Given the description of an element on the screen output the (x, y) to click on. 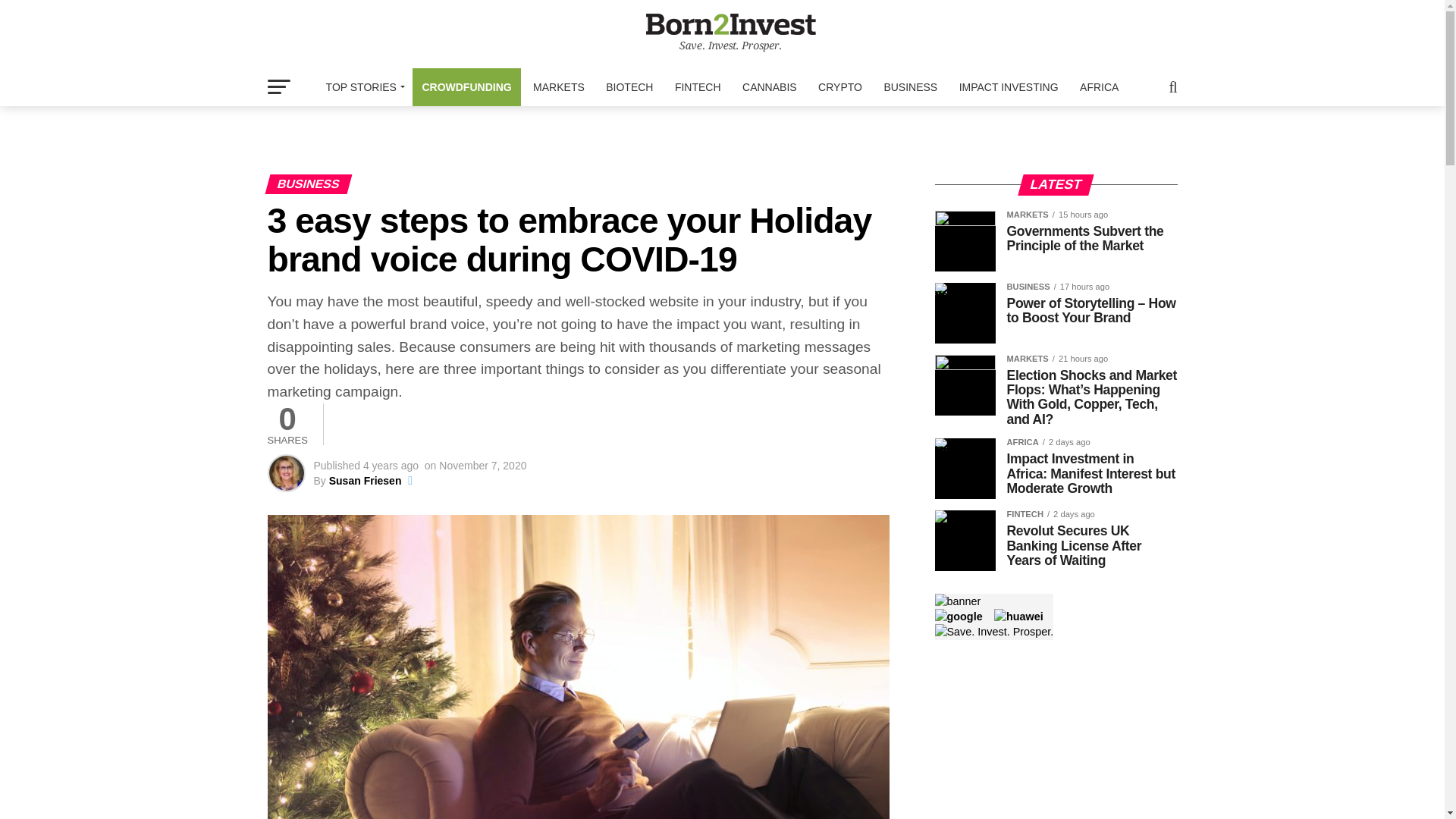
MARKETS (559, 86)
Posts by Susan Friesen (365, 480)
AFRICA (1098, 86)
CANNABIS (769, 86)
FINTECH (697, 86)
BIOTECH (629, 86)
CRYPTO (839, 86)
Susan Friesen (365, 480)
IMPACT INVESTING (1008, 86)
TOP STORIES (363, 86)
CROWDFUNDING (465, 86)
BUSINESS (910, 86)
